Given the description of an element on the screen output the (x, y) to click on. 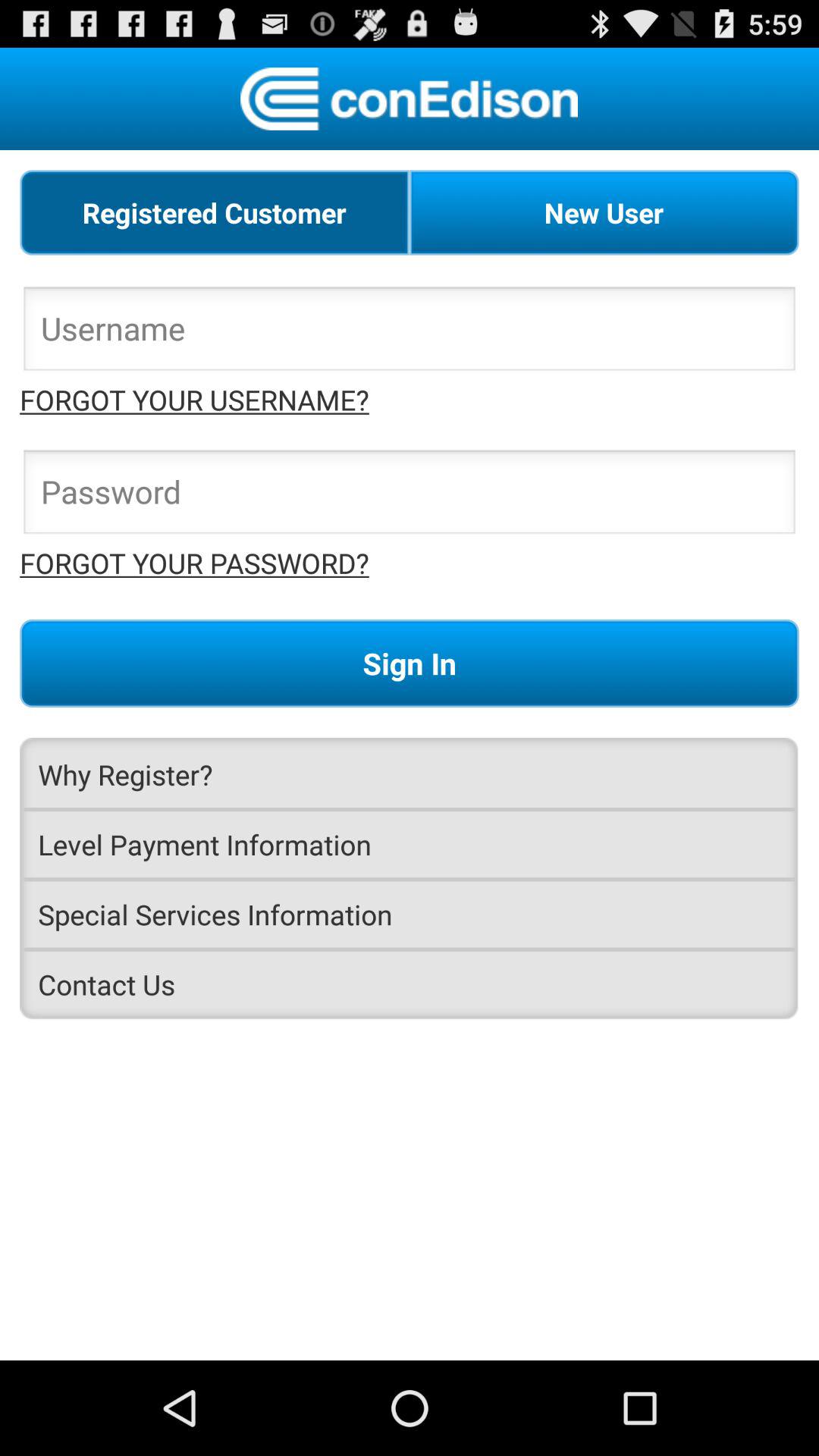
tap registered customer (214, 212)
